Given the description of an element on the screen output the (x, y) to click on. 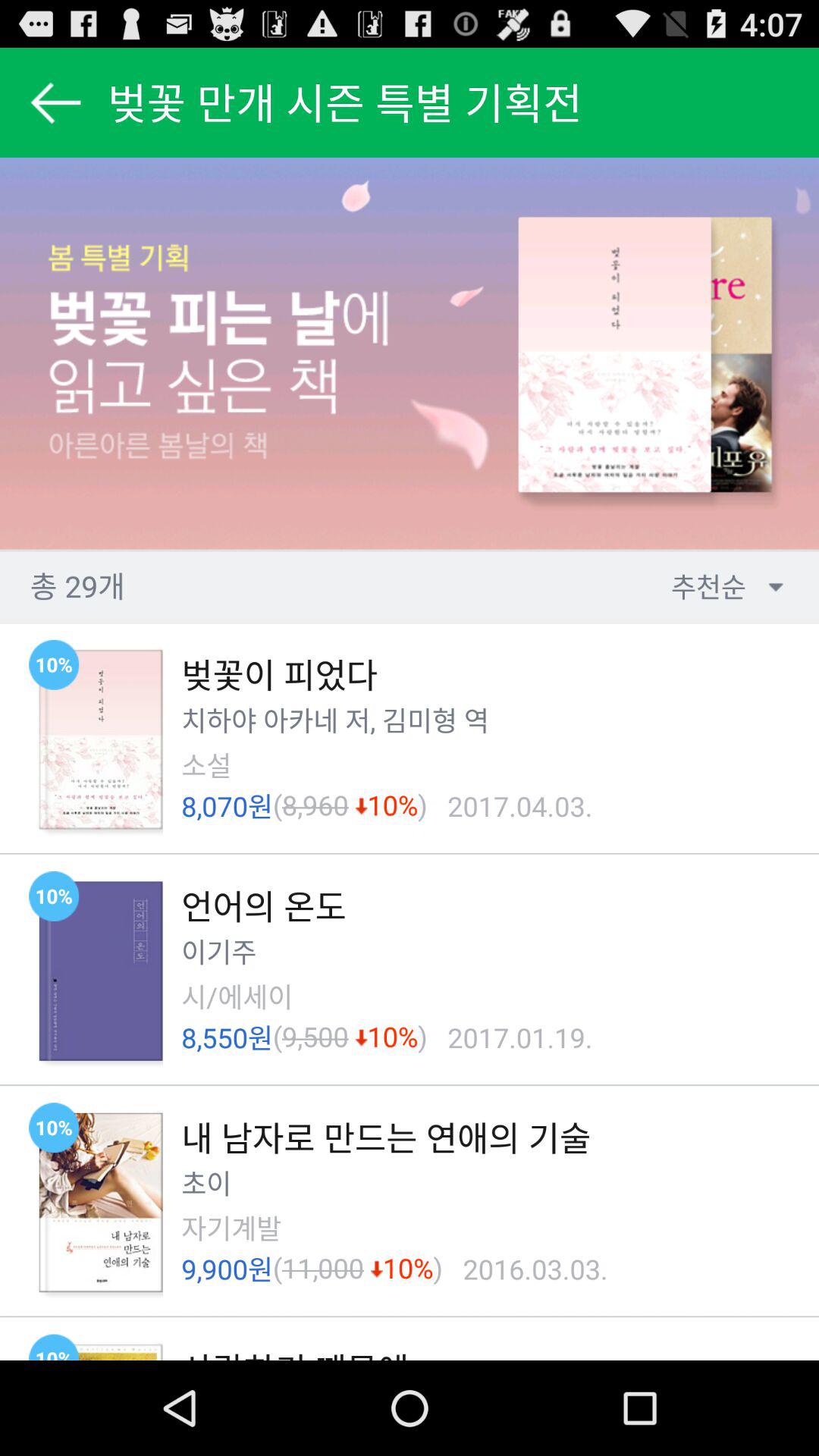
open app next to the 2017.01.19. icon (422, 1037)
